Given the description of an element on the screen output the (x, y) to click on. 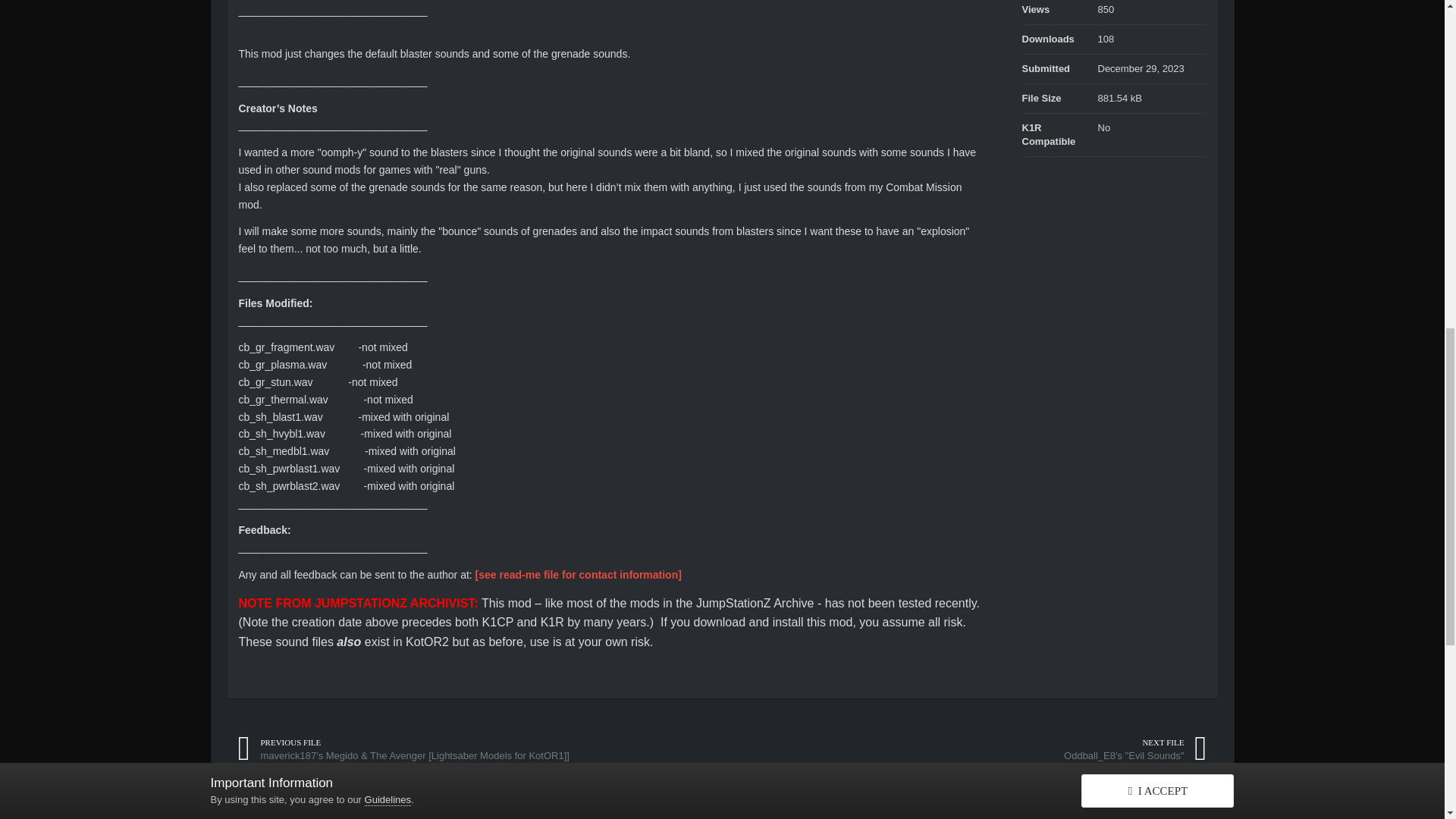
Share on Reddit (285, 808)
Share on Facebook (260, 808)
Share on Twitter (236, 808)
Previous File (402, 748)
Next File (1134, 748)
